Given the description of an element on the screen output the (x, y) to click on. 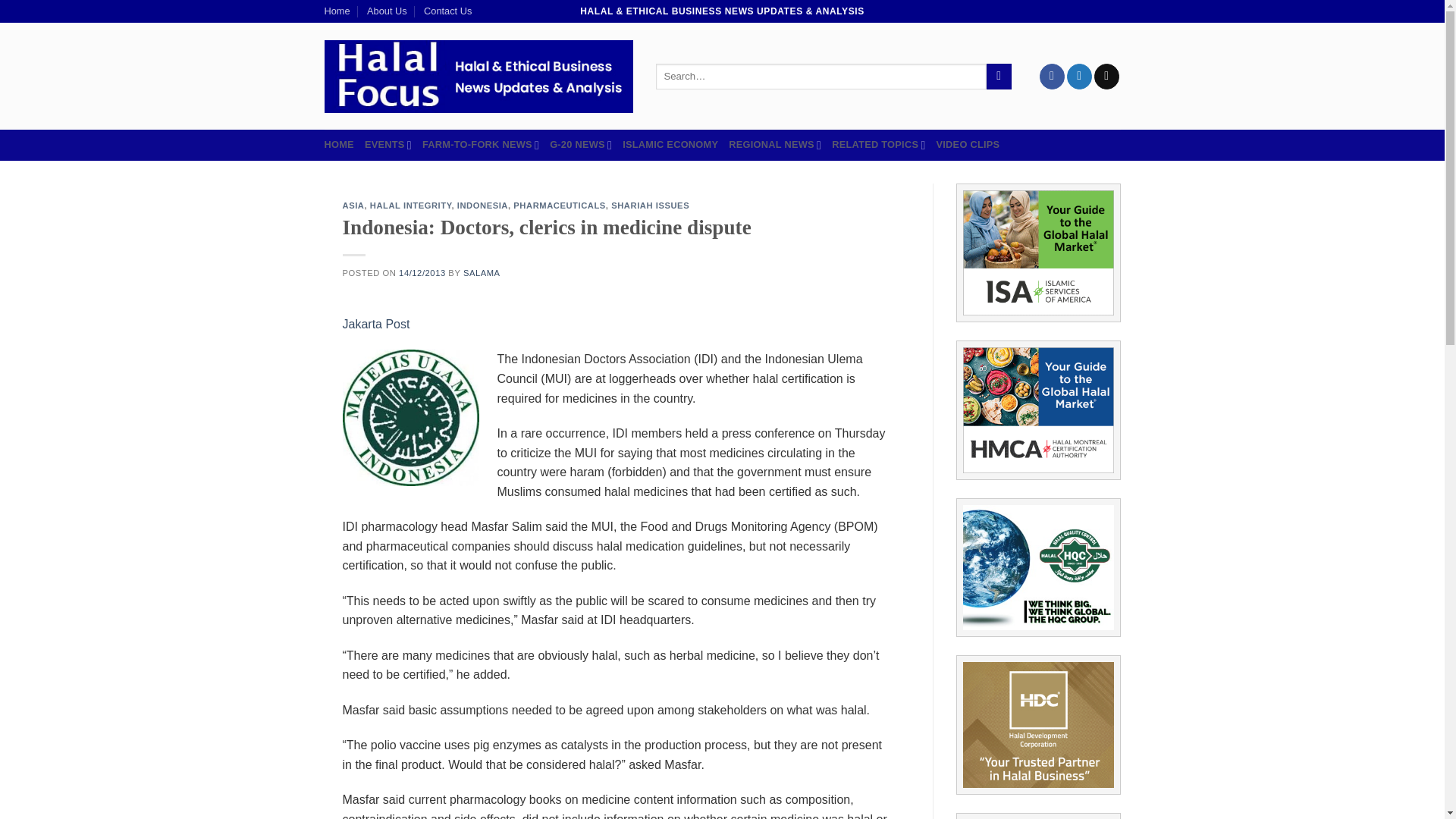
Home (337, 11)
Contact Us (447, 11)
About Us (386, 11)
Halal Montreal (1037, 409)
G-20 NEWS (580, 144)
FARM-TO-FORK NEWS (480, 144)
HOME (338, 144)
EVENTS (388, 144)
